Given the description of an element on the screen output the (x, y) to click on. 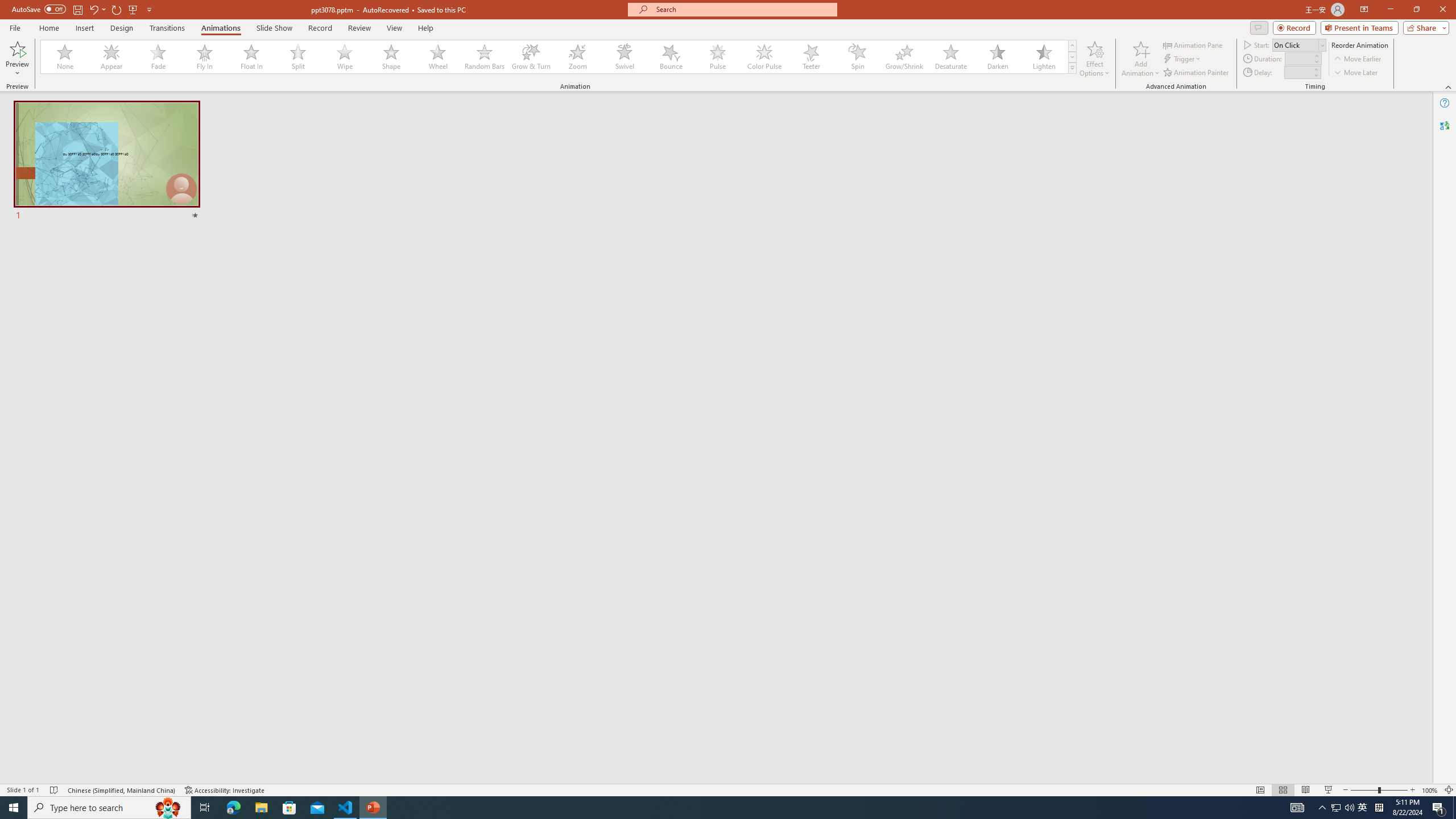
AutomationID: AnimationGallery (558, 56)
Float In (251, 56)
Animation Duration (1298, 58)
